Given the description of an element on the screen output the (x, y) to click on. 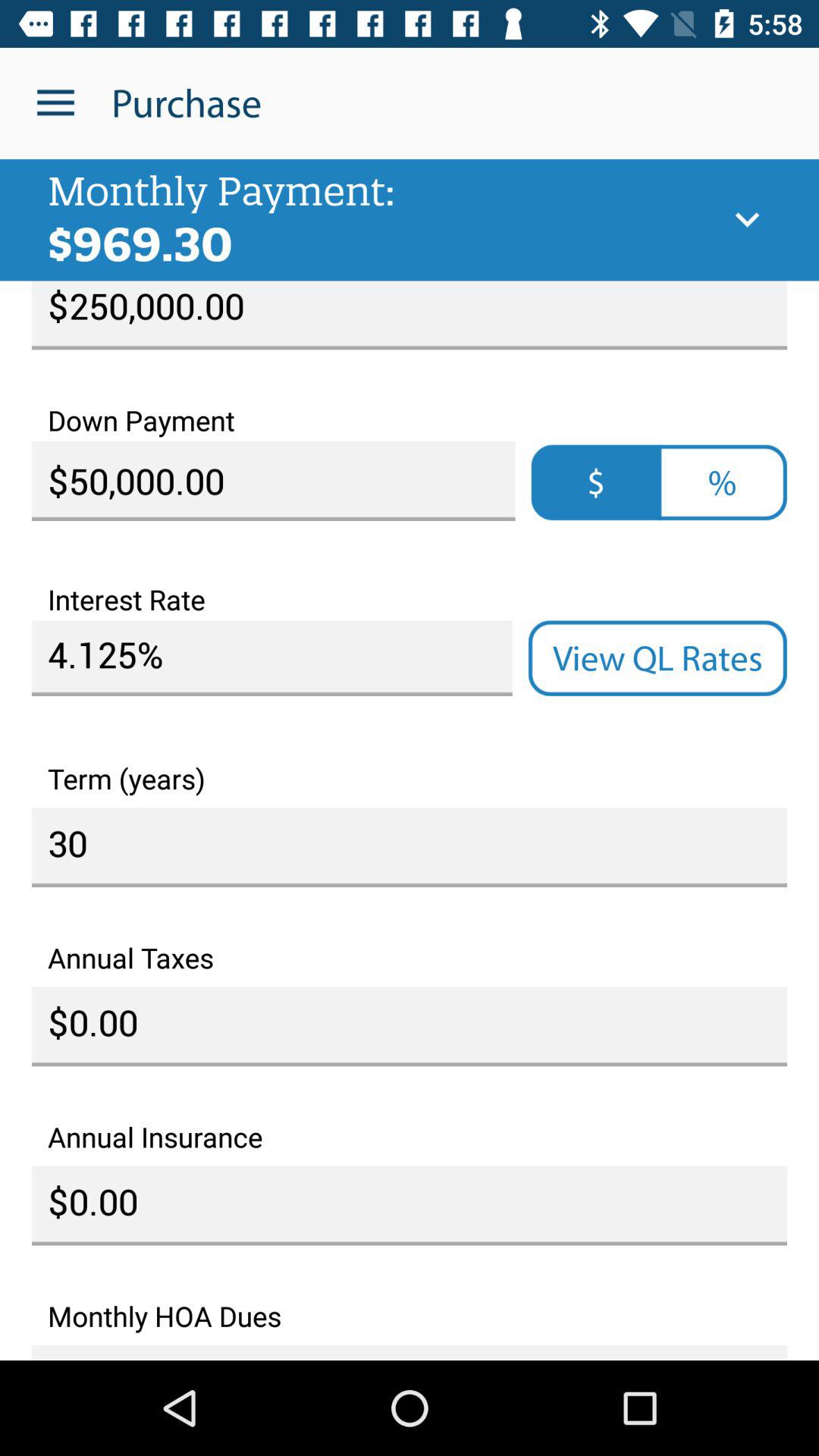
open icon next to view ql rates item (271, 658)
